Given the description of an element on the screen output the (x, y) to click on. 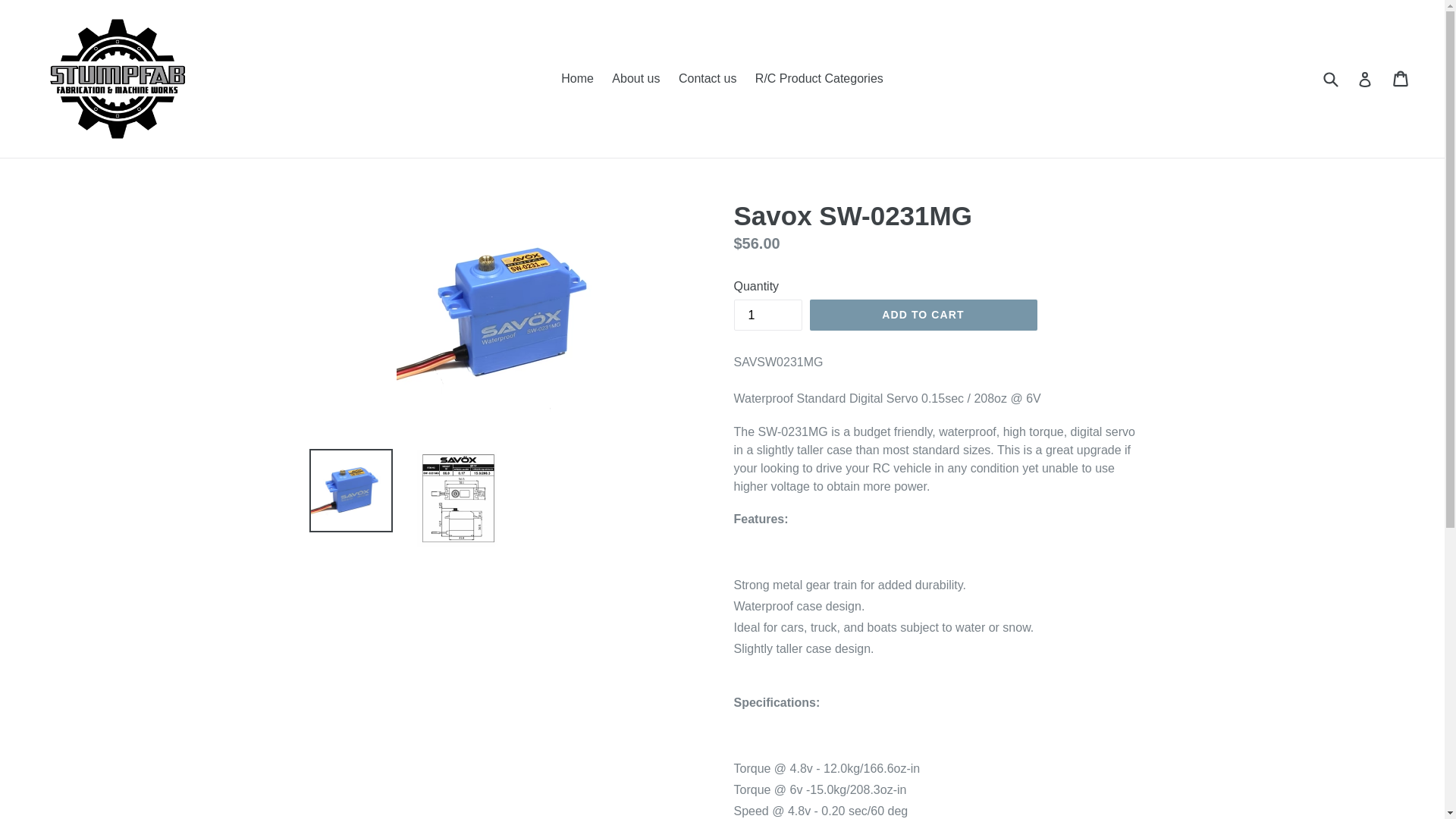
Contact us (707, 78)
ADD TO CART (922, 315)
Home (577, 78)
About us (635, 78)
1 (767, 314)
